Given the description of an element on the screen output the (x, y) to click on. 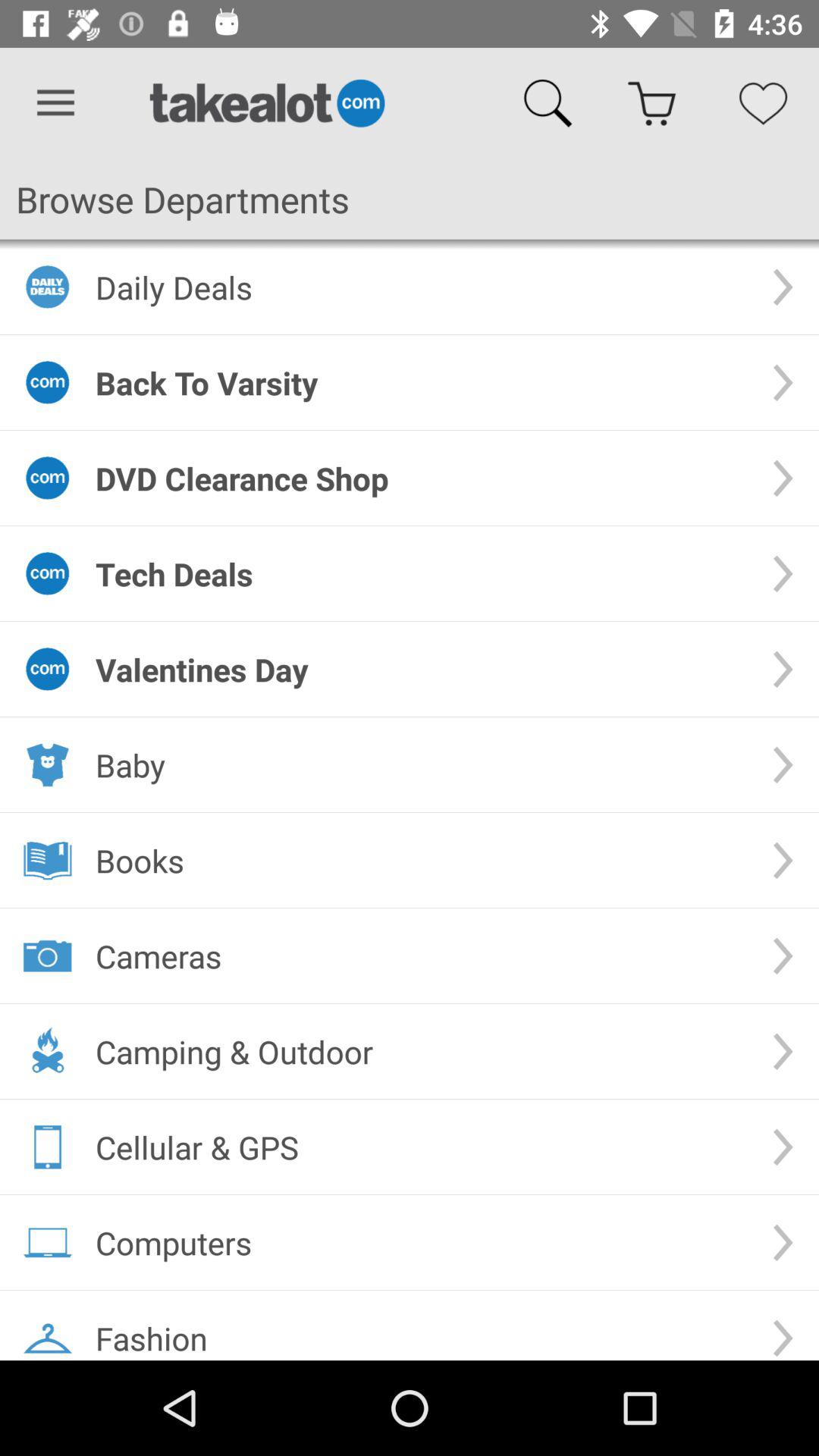
jump until the camping & outdoor item (421, 1051)
